Given the description of an element on the screen output the (x, y) to click on. 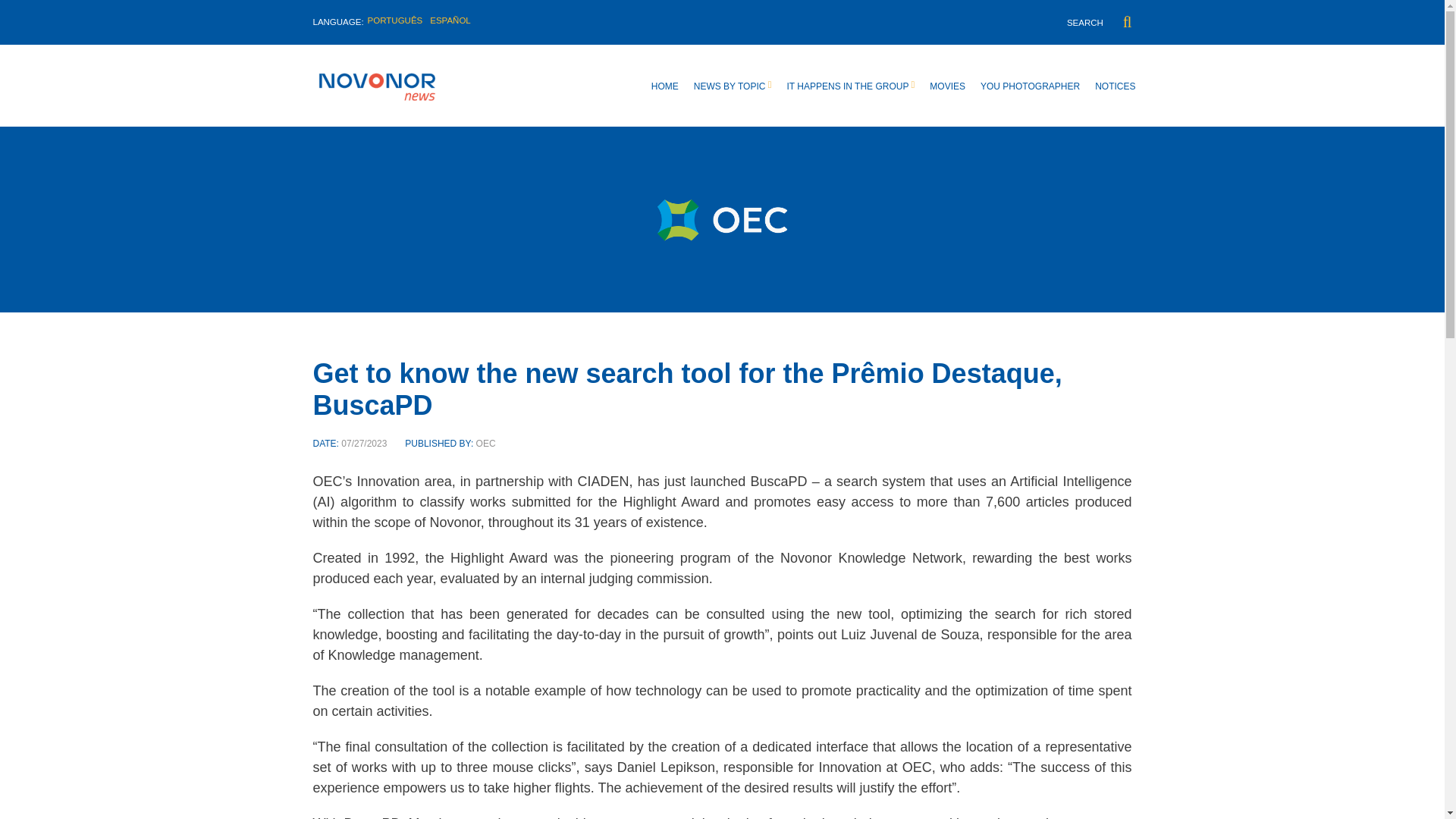
MOVIES (947, 86)
HOME (664, 86)
NOTICES (1114, 86)
IT HAPPENS IN THE GROUP (851, 86)
YOU PHOTOGRAPHER (1029, 86)
NEWS BY TOPIC (732, 86)
